Given the description of an element on the screen output the (x, y) to click on. 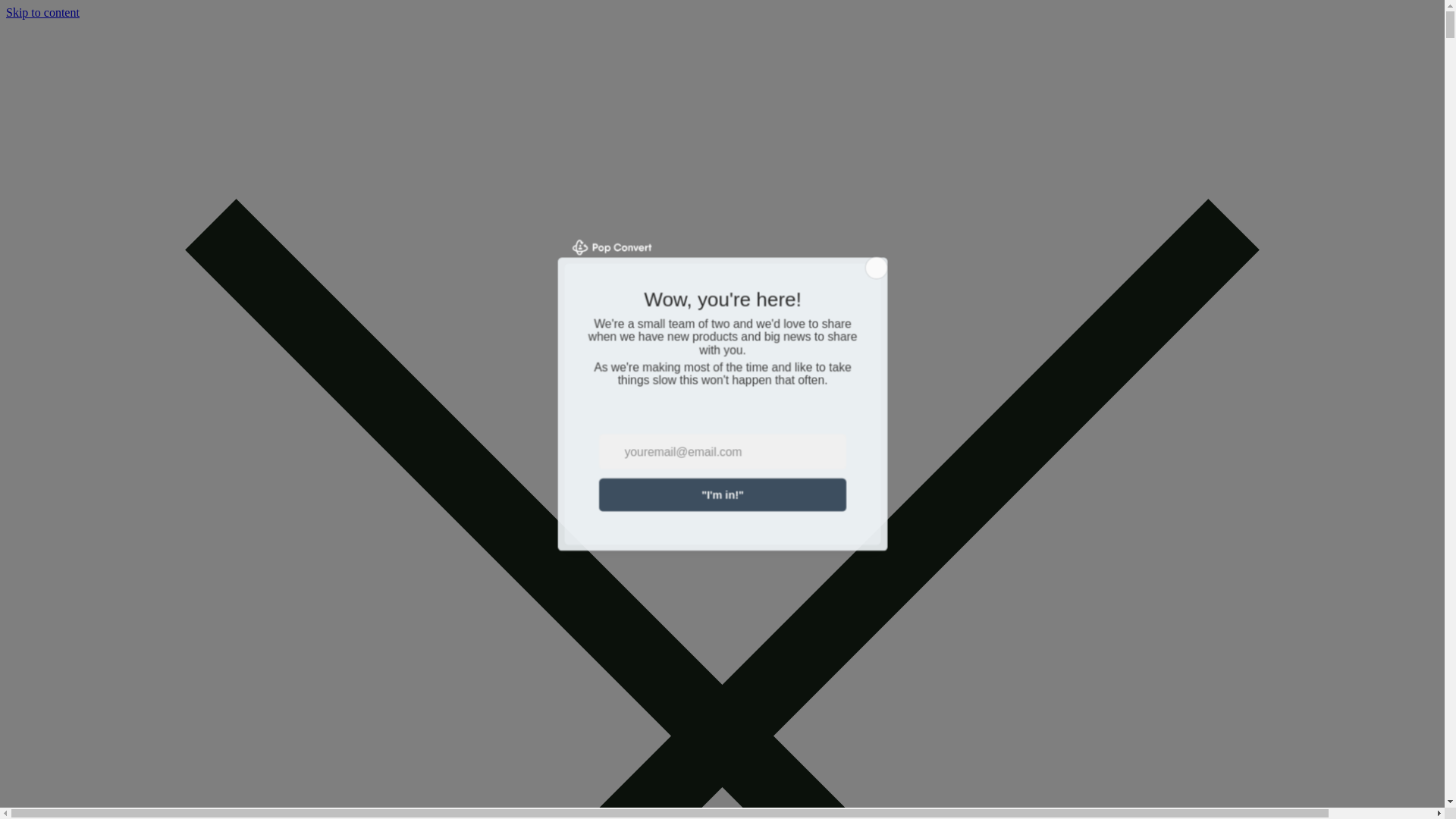
Skip to content Element type: text (42, 12)
